Given the description of an element on the screen output the (x, y) to click on. 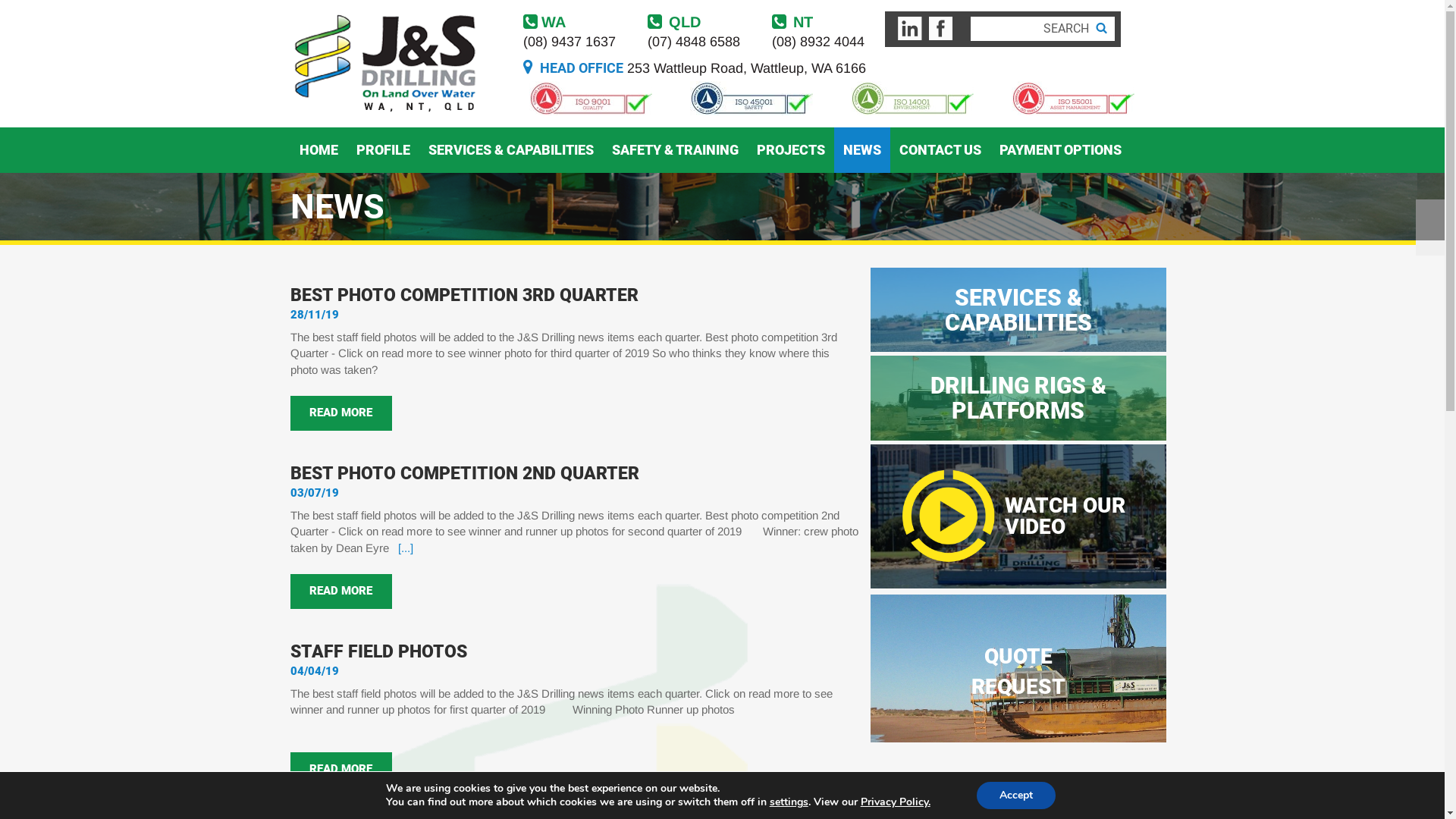
SERVICES & CAPABILITIES Element type: text (1018, 309)
DRILLING RIGS & PLATFORMS Element type: text (1018, 397)
QUOTE REQUEST Element type: text (1018, 668)
PROJECTS Element type: text (790, 149)
Search Element type: text (1099, 28)
Services & Capabilities Element type: hover (1018, 309)
js drilling Element type: hover (389, 62)
READ MORE Element type: text (340, 412)
CONTACT US Element type: text (940, 149)
(08) 8932 4044 Element type: text (822, 41)
PAYMENT OPTIONS Element type: text (1060, 149)
SAFETY & TRAINING Element type: text (674, 149)
WATCH OUR VIDEO Element type: text (1018, 516)
(08) 9437 1637 Element type: text (573, 41)
js drilling Element type: hover (388, 62)
PROFILE Element type: text (383, 149)
READ MORE Element type: text (340, 591)
Next Element type: text (1429, 226)
Drilling Rigs & Platforms Element type: hover (1018, 397)
HOME Element type: text (317, 149)
SERVICES & CAPABILITIES Element type: text (510, 149)
Privacy Policy Element type: text (894, 801)
Accept Element type: text (1015, 795)
(07) 4848 6588 Element type: text (698, 41)
READ MORE Element type: text (340, 769)
NEWS Element type: text (862, 149)
